Given the description of an element on the screen output the (x, y) to click on. 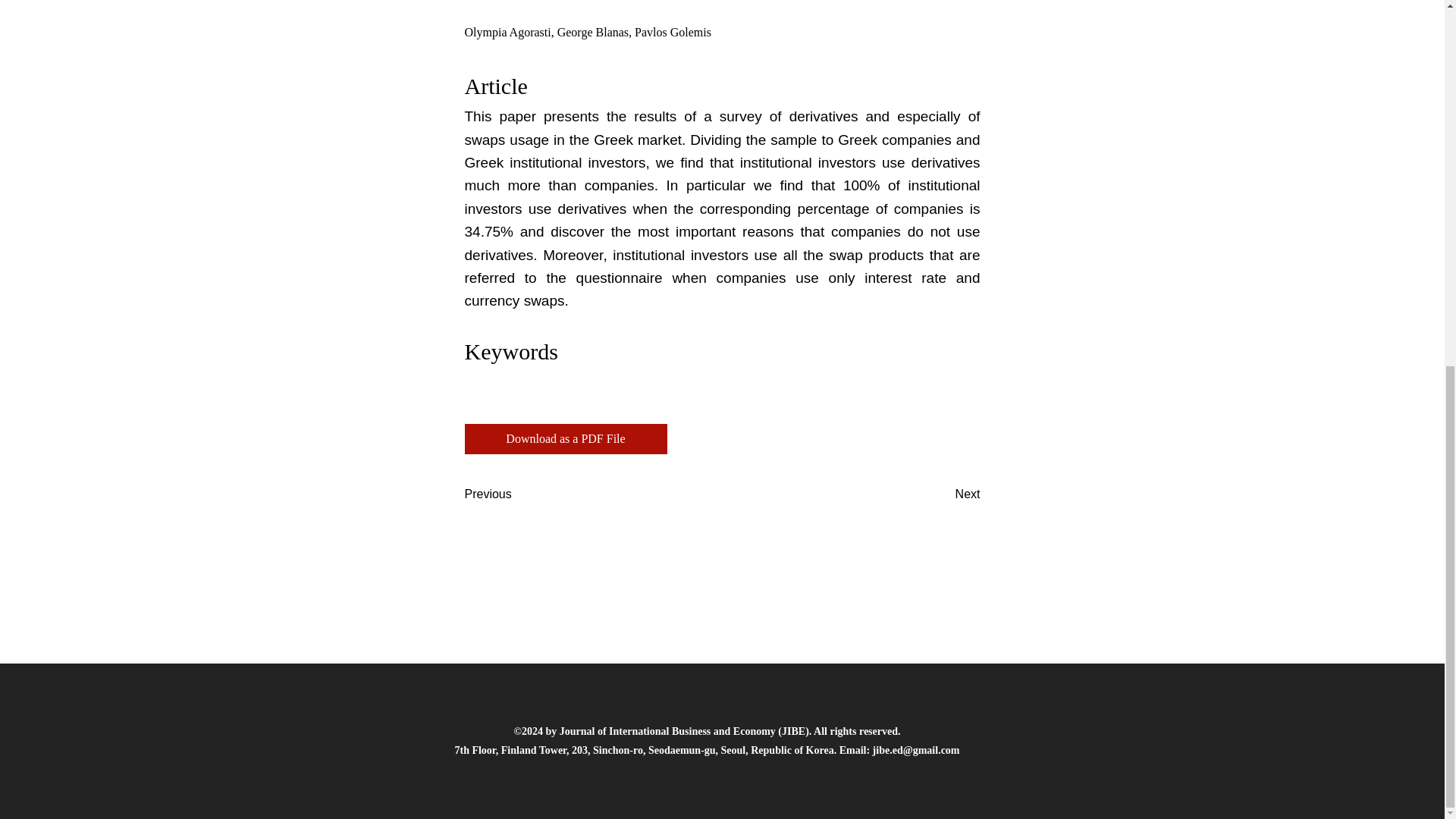
Previous (514, 494)
Next (941, 494)
Download as a PDF File (565, 439)
